Given the description of an element on the screen output the (x, y) to click on. 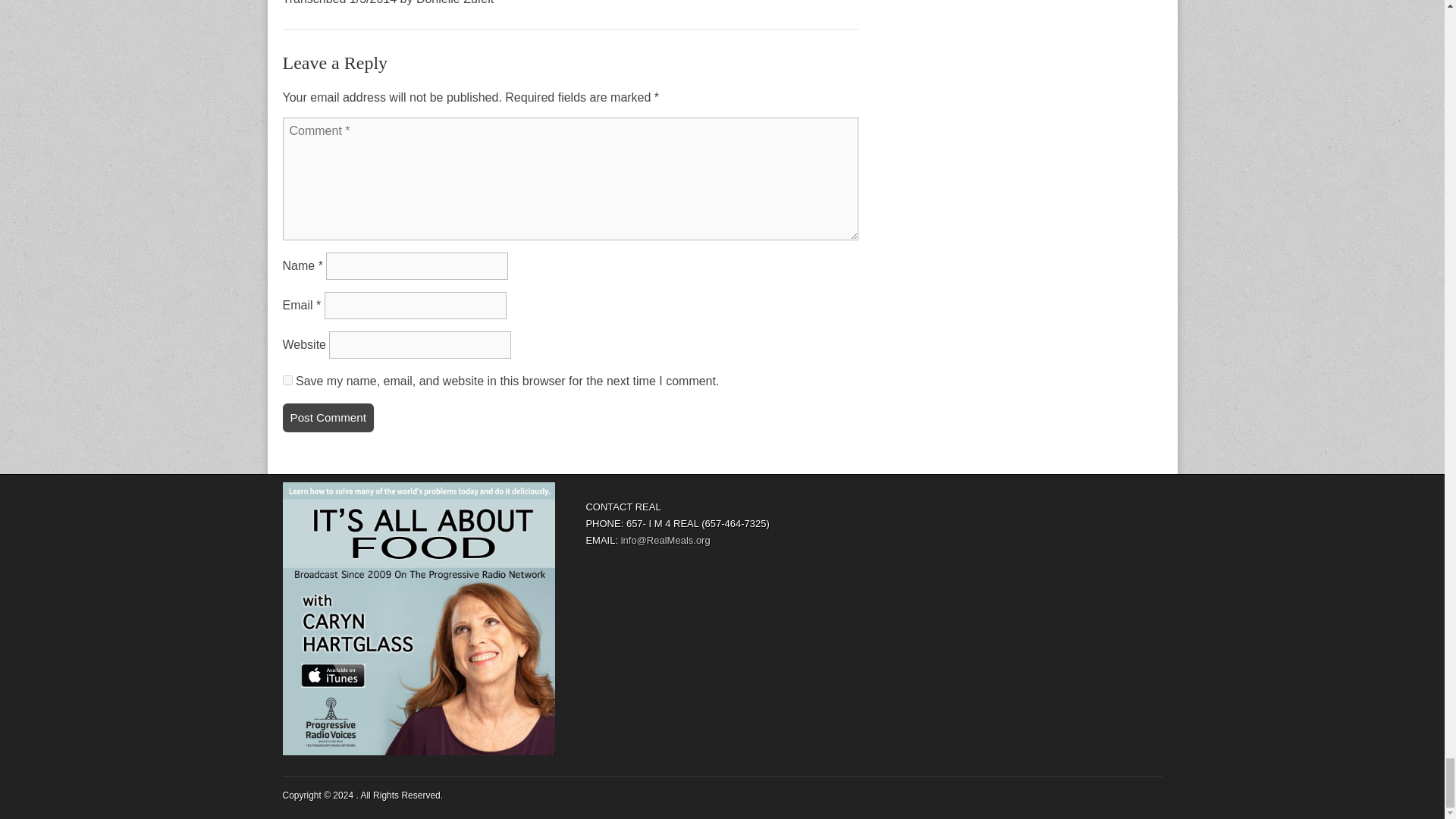
yes (287, 379)
Post Comment (327, 417)
Listen on Itunes (418, 618)
